Given the description of an element on the screen output the (x, y) to click on. 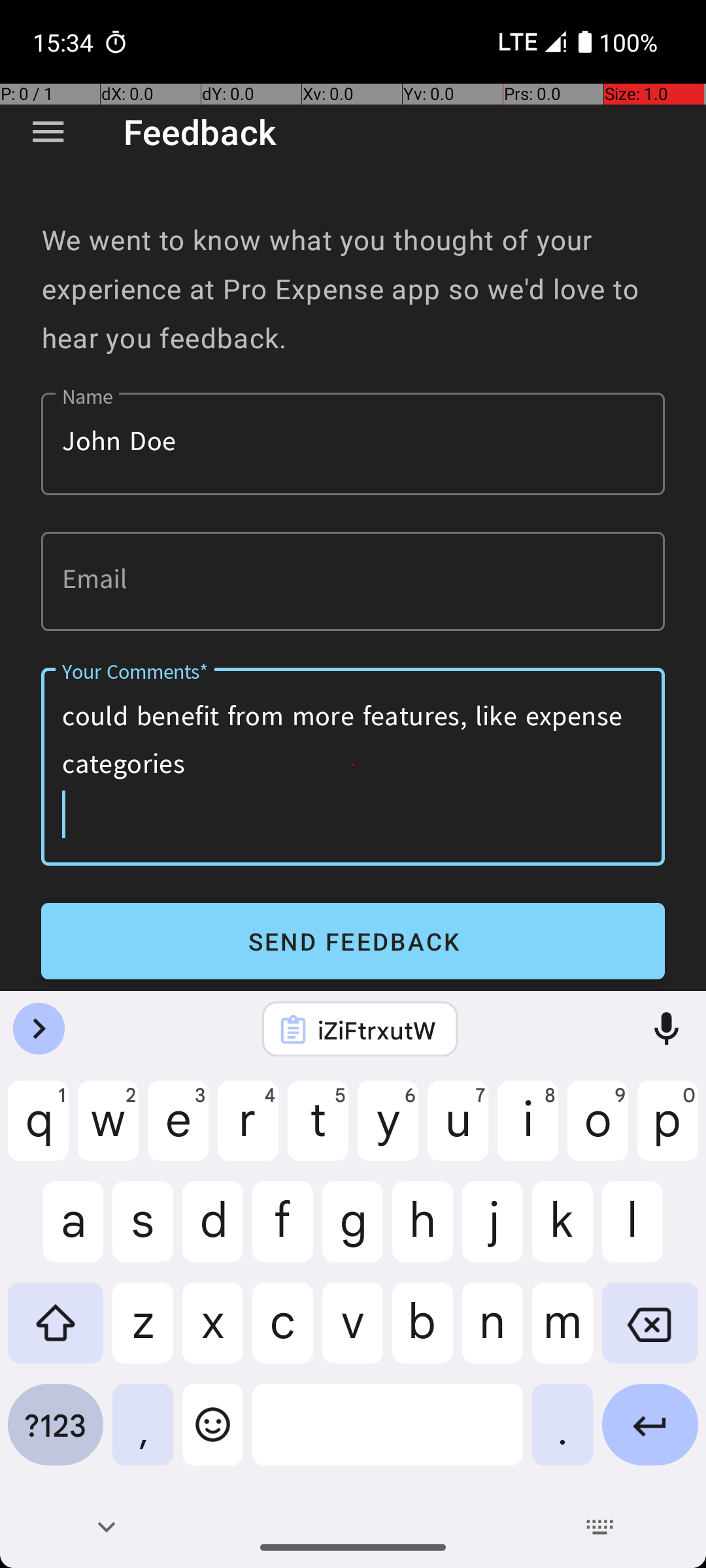
We went to know what you thought of your experience at Pro Expense app so we'd love to hear you feedback. Element type: android.widget.TextView (352, 288)
John Doe Element type: android.widget.EditText (352, 443)
I really enjoyed using the app, but I think it could benefit from more features, like expense categories
 Element type: android.widget.EditText (352, 766)
SEND FEEDBACK Element type: android.widget.Button (352, 941)
iZiFtrxutW Element type: android.widget.TextView (376, 1029)
